Given the description of an element on the screen output the (x, y) to click on. 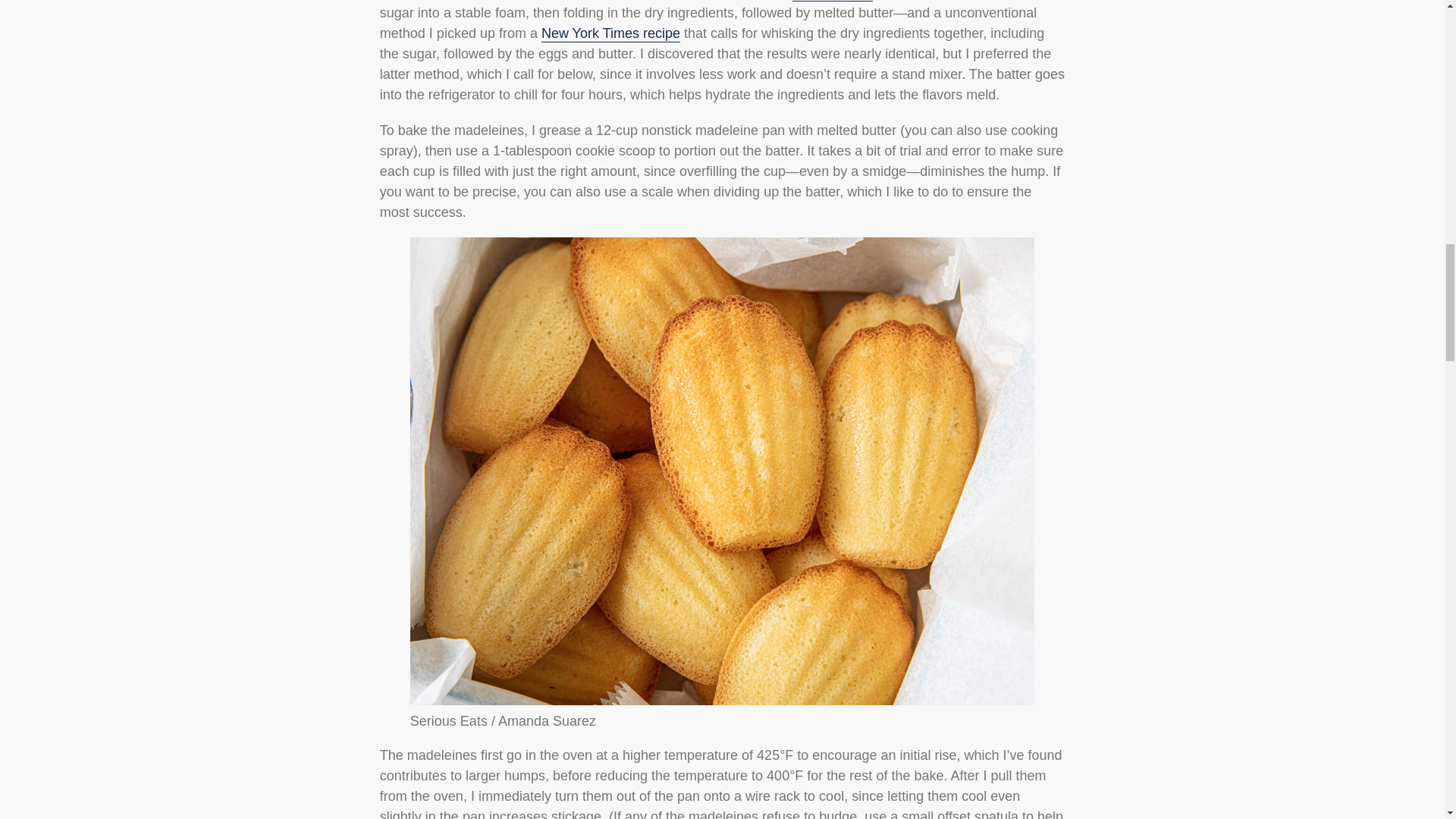
genoise cake (832, 0)
New York Times recipe (610, 33)
